Given the description of an element on the screen output the (x, y) to click on. 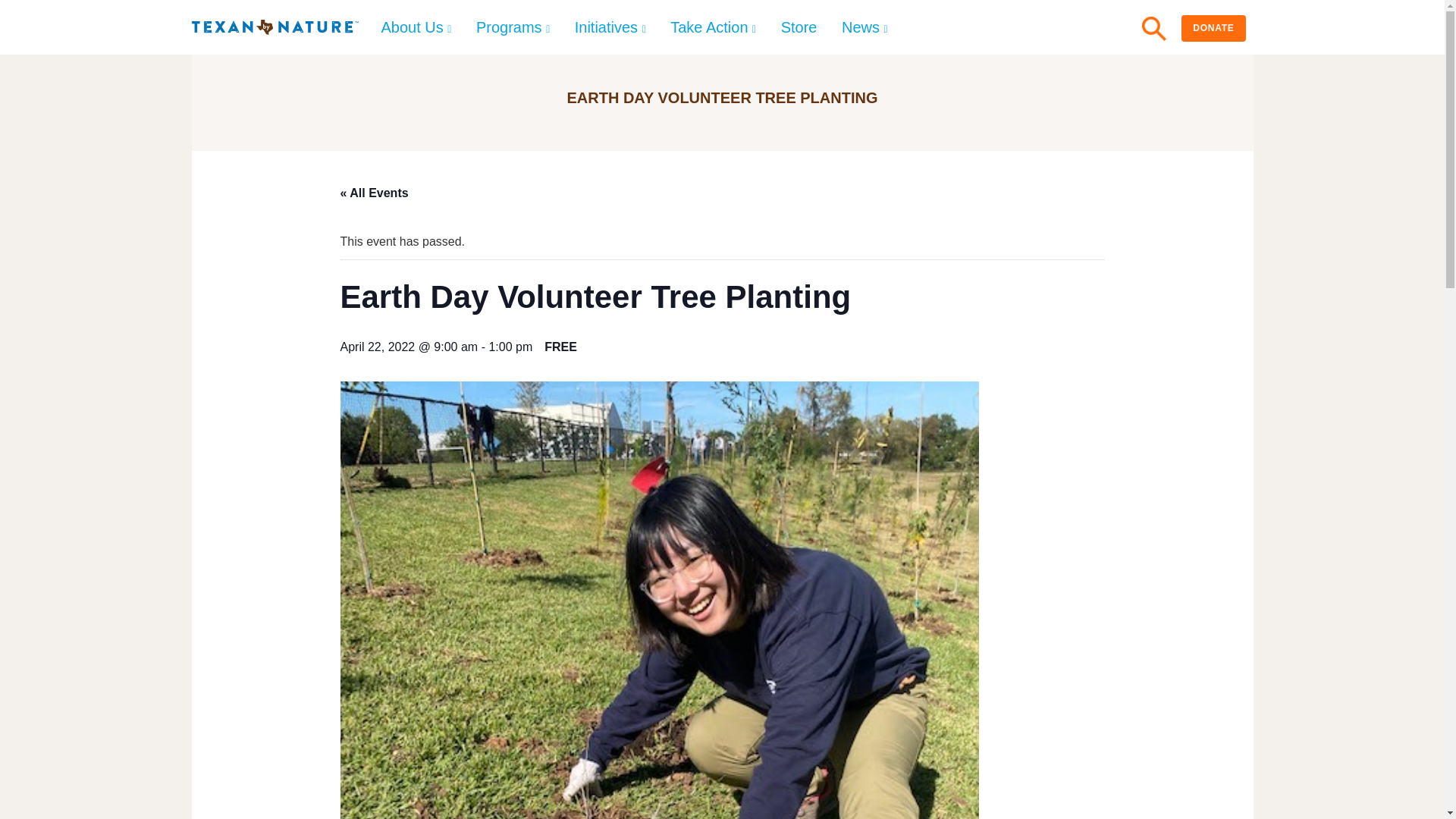
Programs (512, 26)
About Us (415, 26)
Initiatives (610, 26)
